Given the description of an element on the screen output the (x, y) to click on. 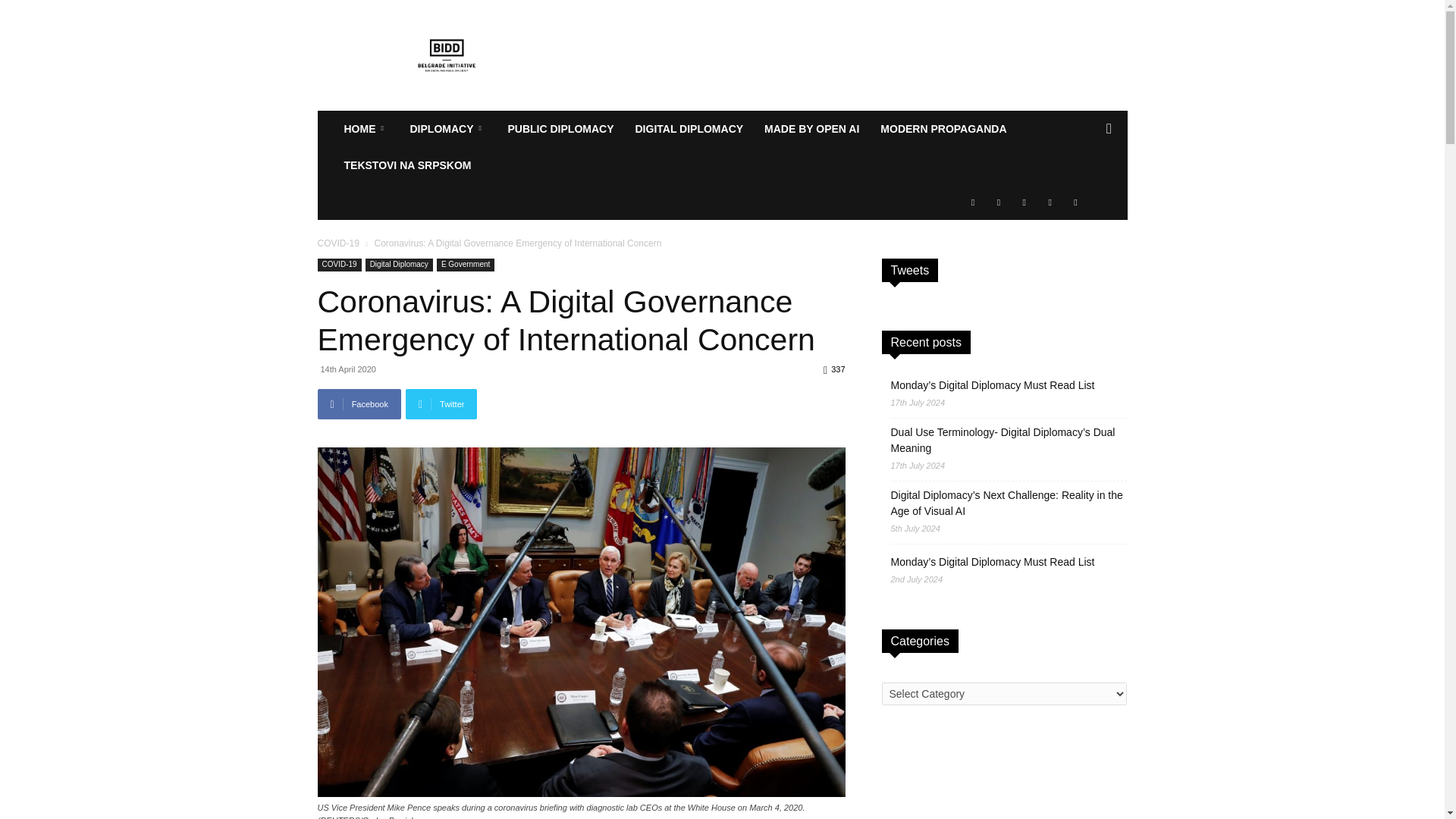
MODERN PROPAGANDA (942, 128)
PUBLIC DIPLOMACY (560, 128)
Advertisement (850, 55)
DIPLOMACY (447, 128)
HOME (365, 128)
MADE BY OPEN AI (811, 128)
Twitter (441, 404)
Facebook (358, 404)
View all posts in COVID-19 (337, 243)
DIGITAL DIPLOMACY (689, 128)
TEKSTOVI NA SRPSKOM (407, 165)
